Given the description of an element on the screen output the (x, y) to click on. 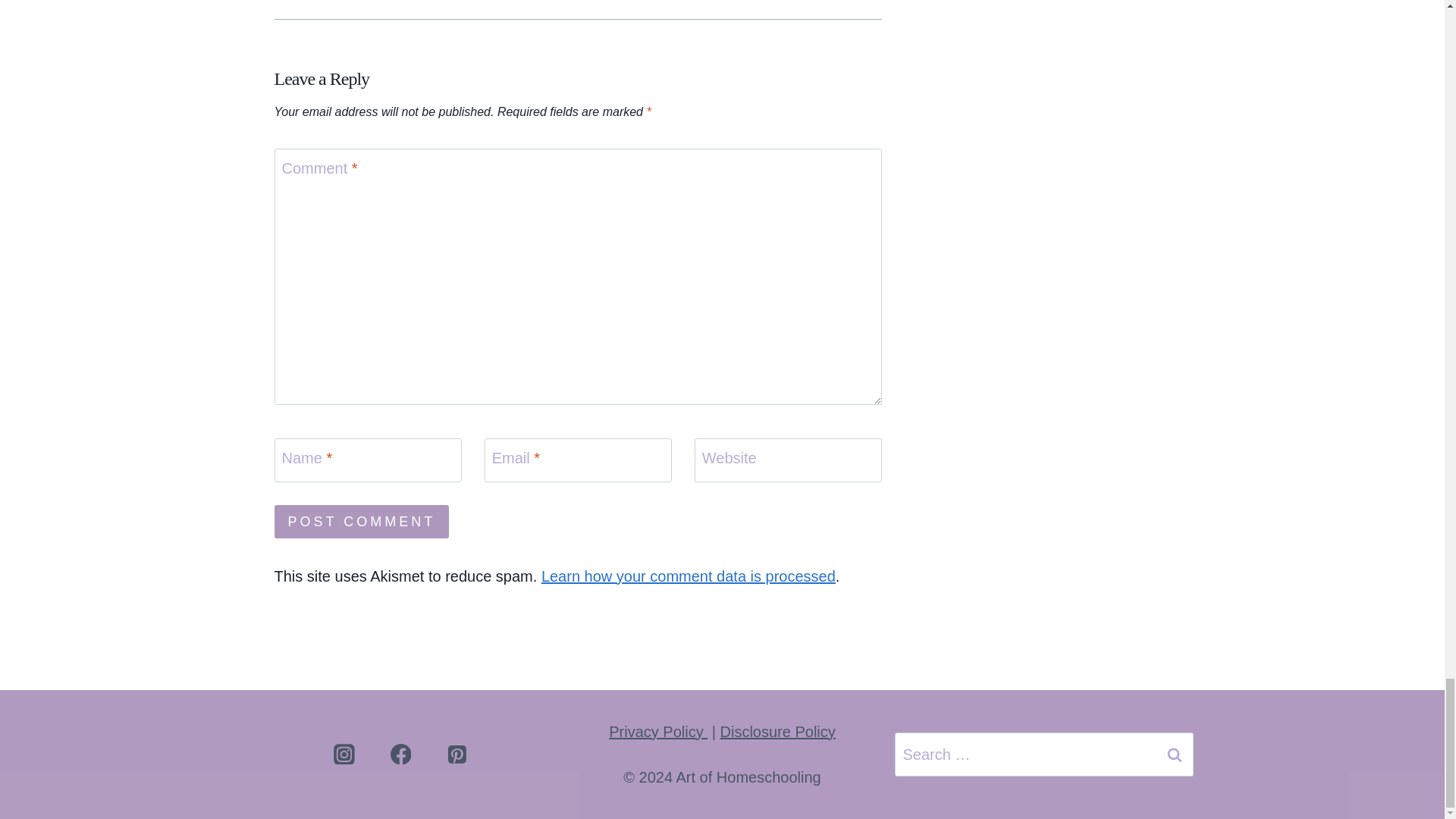
Post Comment (362, 521)
